Given the description of an element on the screen output the (x, y) to click on. 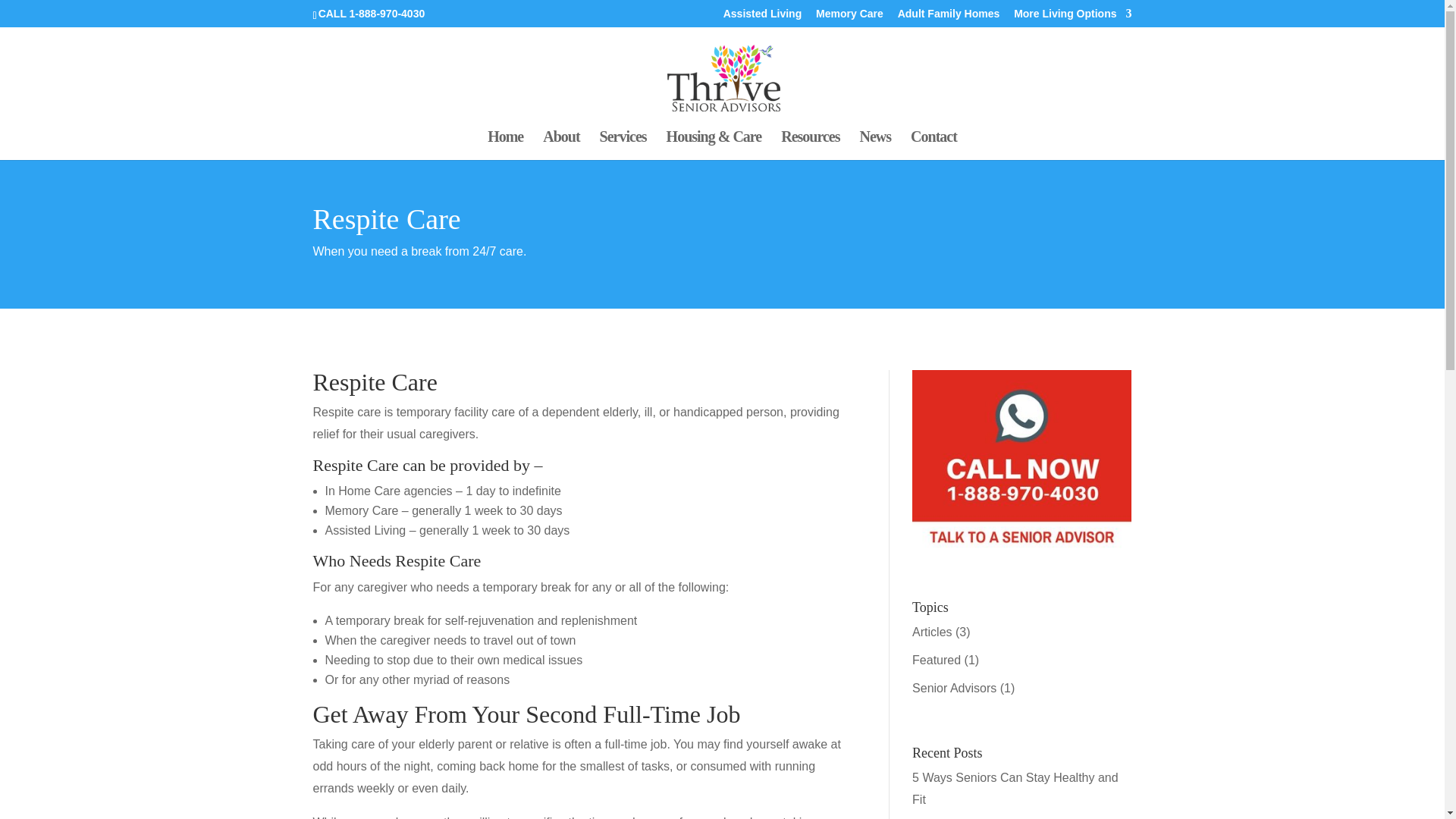
5 Ways Seniors Can Stay Healthy and Fit (1015, 788)
Articles (932, 631)
More Living Options (1072, 16)
Assisted Living (762, 16)
Home (504, 145)
News (875, 145)
Resources (810, 145)
About (561, 145)
Adult Family Homes (949, 16)
Senior Advisors (953, 687)
Services (622, 145)
Memory Care (849, 16)
Contact (933, 145)
Featured (936, 659)
